Given the description of an element on the screen output the (x, y) to click on. 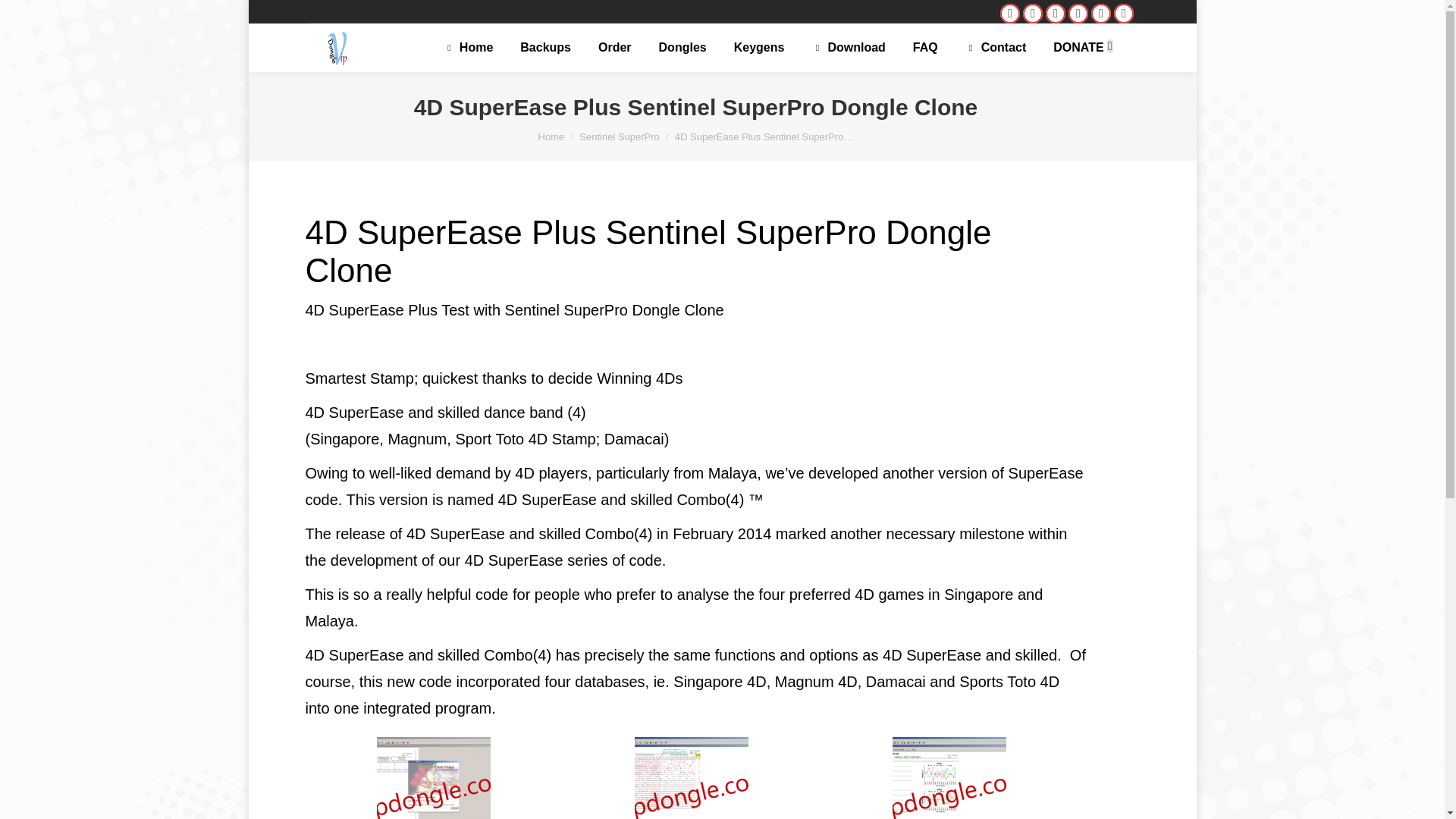
Mail page opens in new window (1032, 13)
Backups (544, 47)
Facebook page opens in new window (1010, 13)
Github page opens in new window (1123, 13)
Twitter page opens in new window (1055, 13)
Instagram page opens in new window (1100, 13)
Instagram page opens in new window (1100, 13)
Github page opens in new window (1123, 13)
Mail page opens in new window (1032, 13)
Dongles (683, 47)
Reddit page opens in new window (1077, 13)
Facebook page opens in new window (1010, 13)
Home (468, 47)
Twitter page opens in new window (1055, 13)
Order (614, 47)
